Given the description of an element on the screen output the (x, y) to click on. 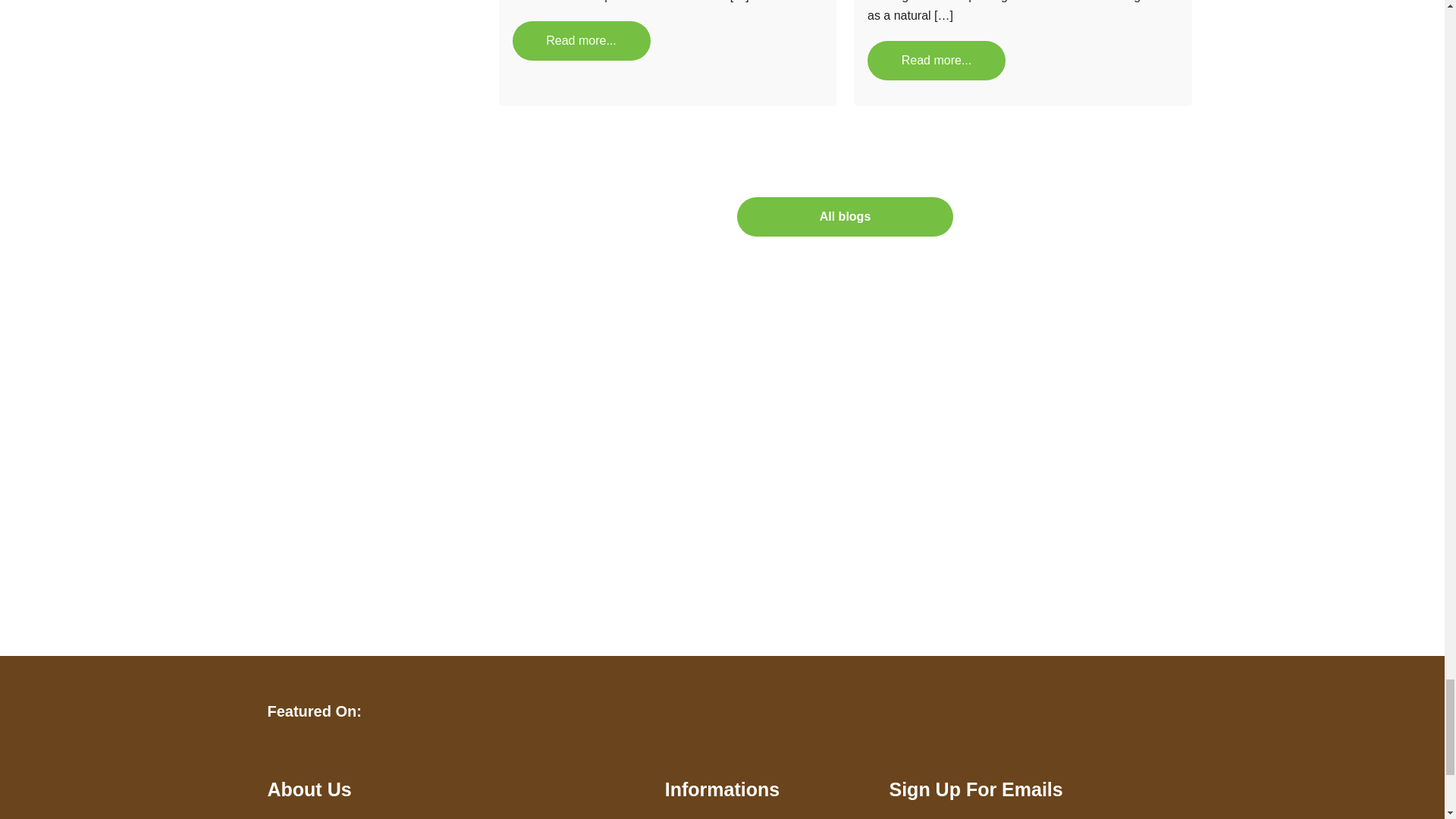
newtimes (516, 711)
newmen (946, 711)
washington (747, 710)
oprah (1093, 711)
